Given the description of an element on the screen output the (x, y) to click on. 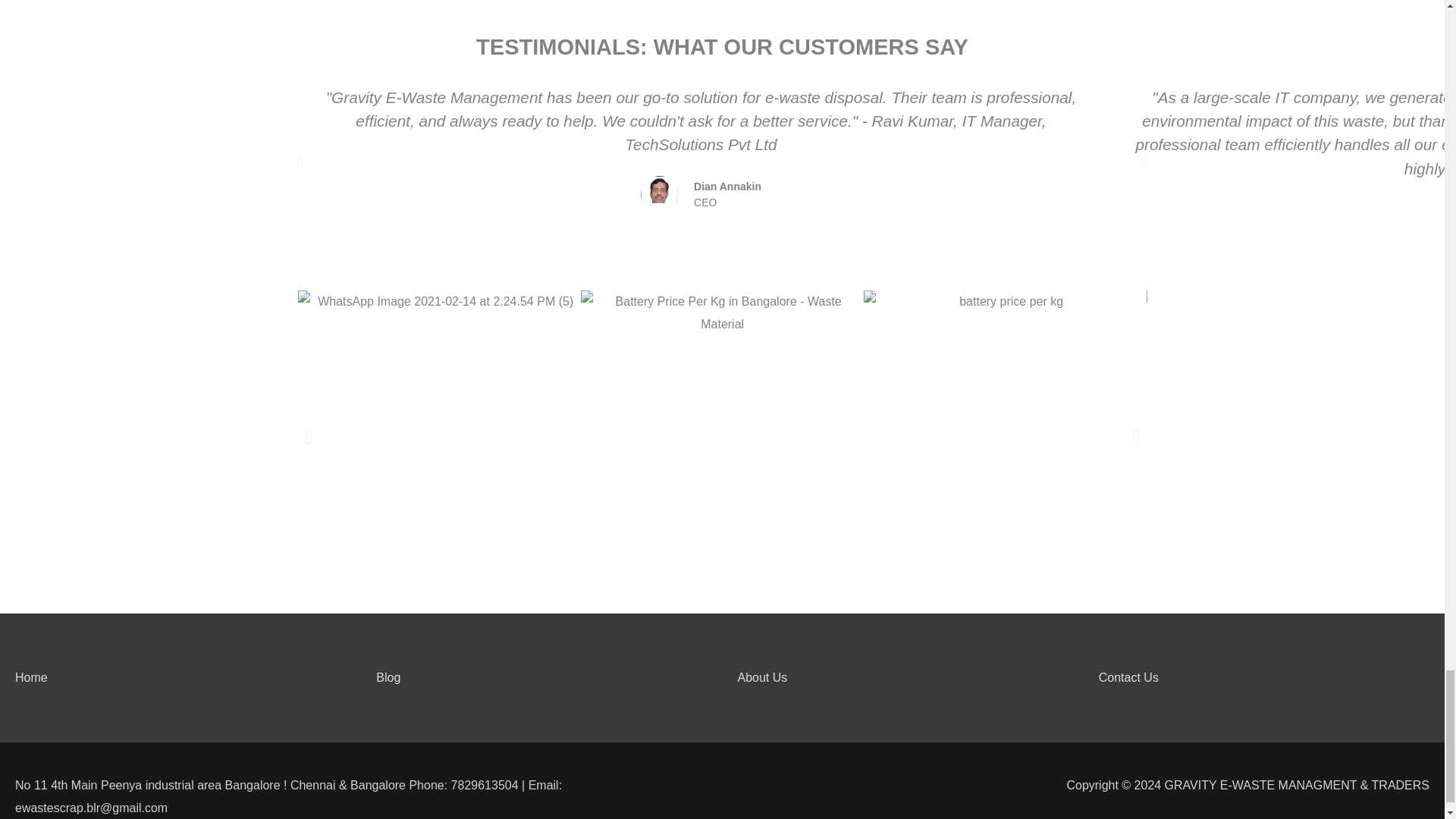
Contact Us (1128, 676)
About Us (761, 676)
Home 11 (659, 194)
Home (31, 676)
Blog (387, 676)
